Given the description of an element on the screen output the (x, y) to click on. 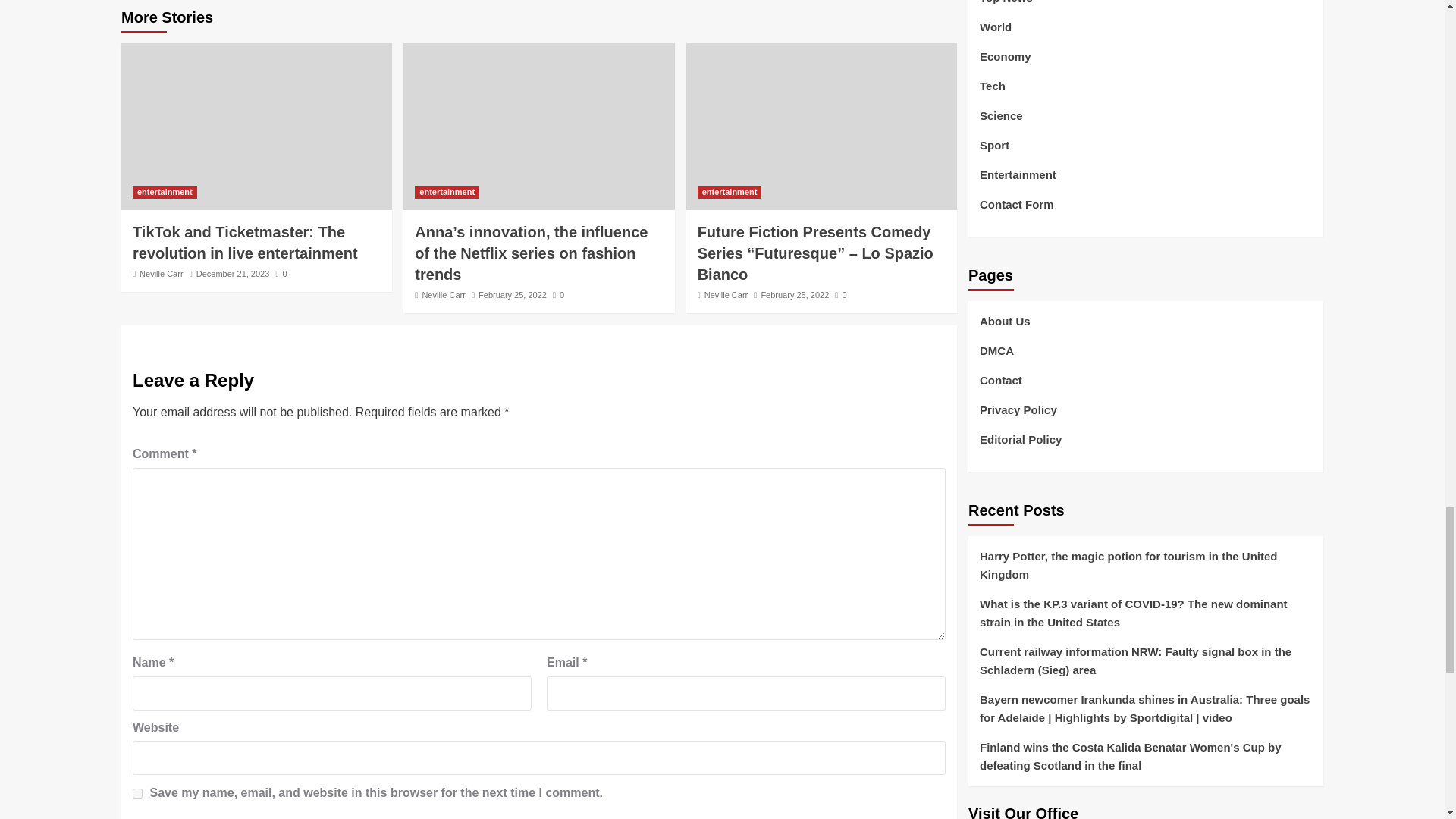
entertainment (446, 192)
February 25, 2022 (513, 294)
0 (558, 294)
Neville Carr (443, 294)
entertainment (164, 192)
yes (137, 793)
0 (280, 273)
December 21, 2023 (232, 273)
Neville Carr (161, 273)
